Given the description of an element on the screen output the (x, y) to click on. 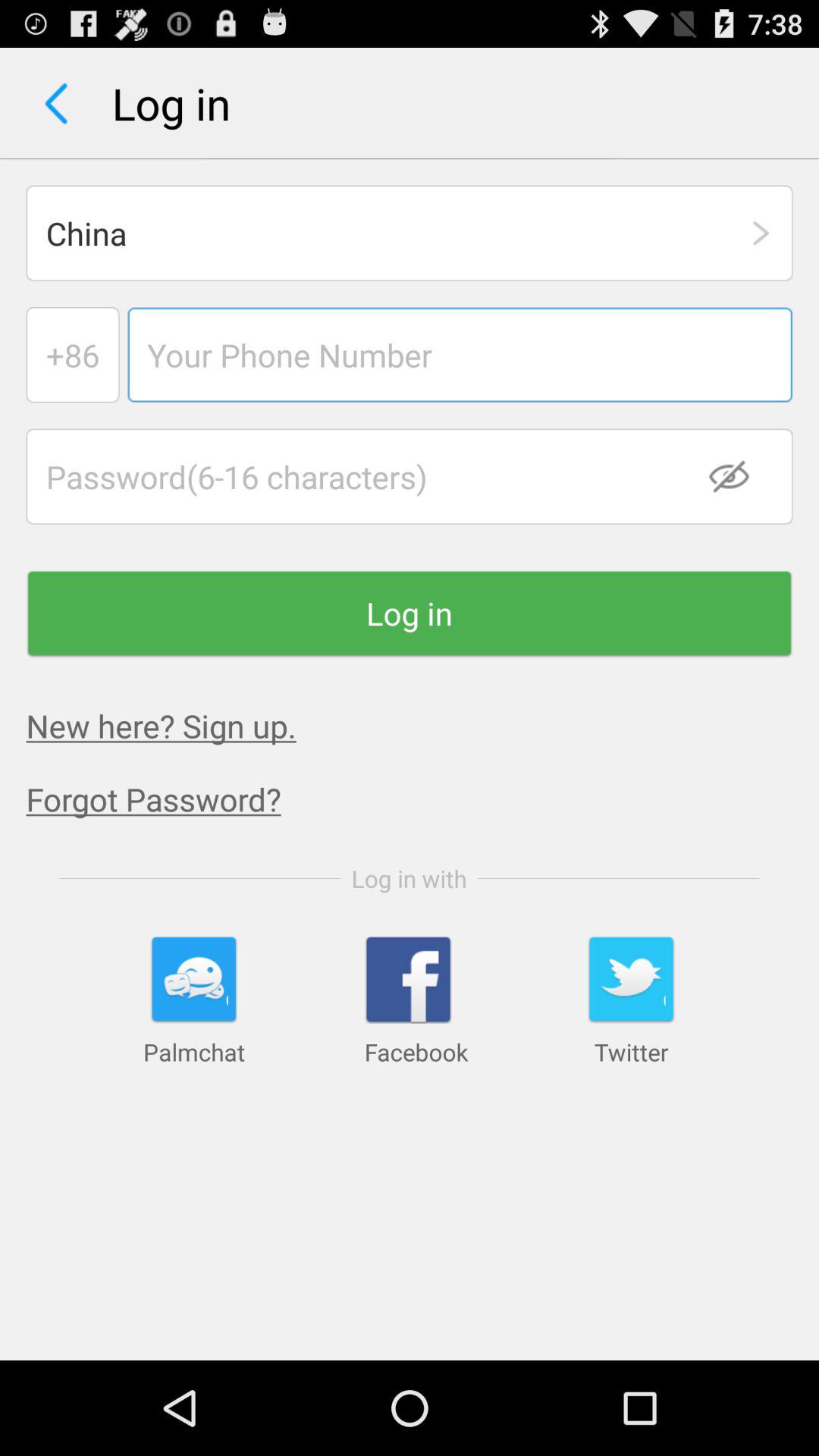
flip to forgot password? icon (422, 798)
